Given the description of an element on the screen output the (x, y) to click on. 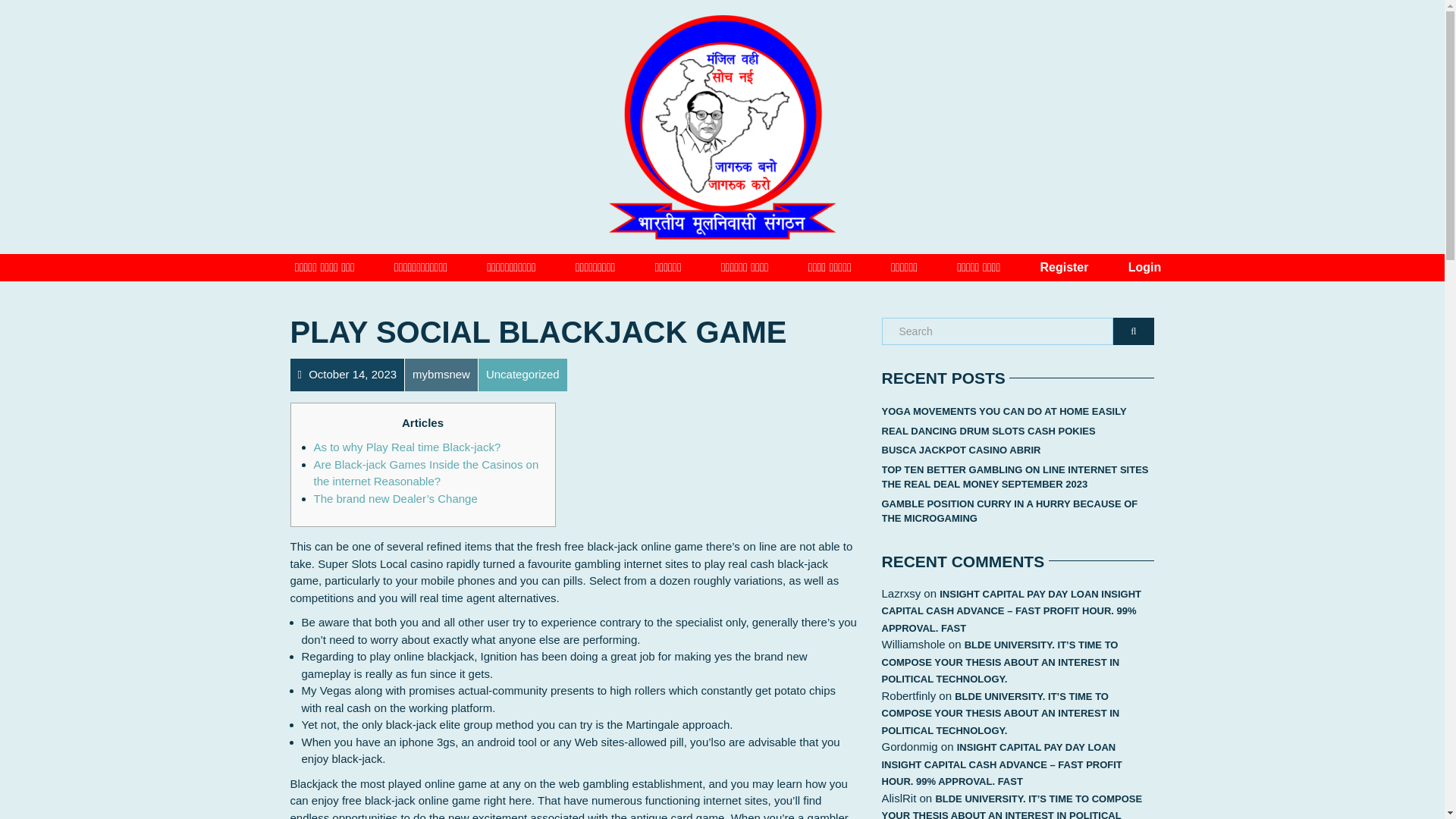
Login (1144, 258)
YOGA MOVEMENTS YOU CAN DO AT HOME EASILY (1002, 411)
GAMBLE POSITION CURRY IN A HURRY BECAUSE OF THE MICROGAMING (1017, 511)
mybmsnew (440, 373)
BUSCA JACKPOT CASINO ABRIR (960, 450)
View all posts in category: Uncategorized (522, 373)
Register (1063, 258)
REAL DANCING DRUM SLOTS CASH POKIES (987, 431)
